Given the description of an element on the screen output the (x, y) to click on. 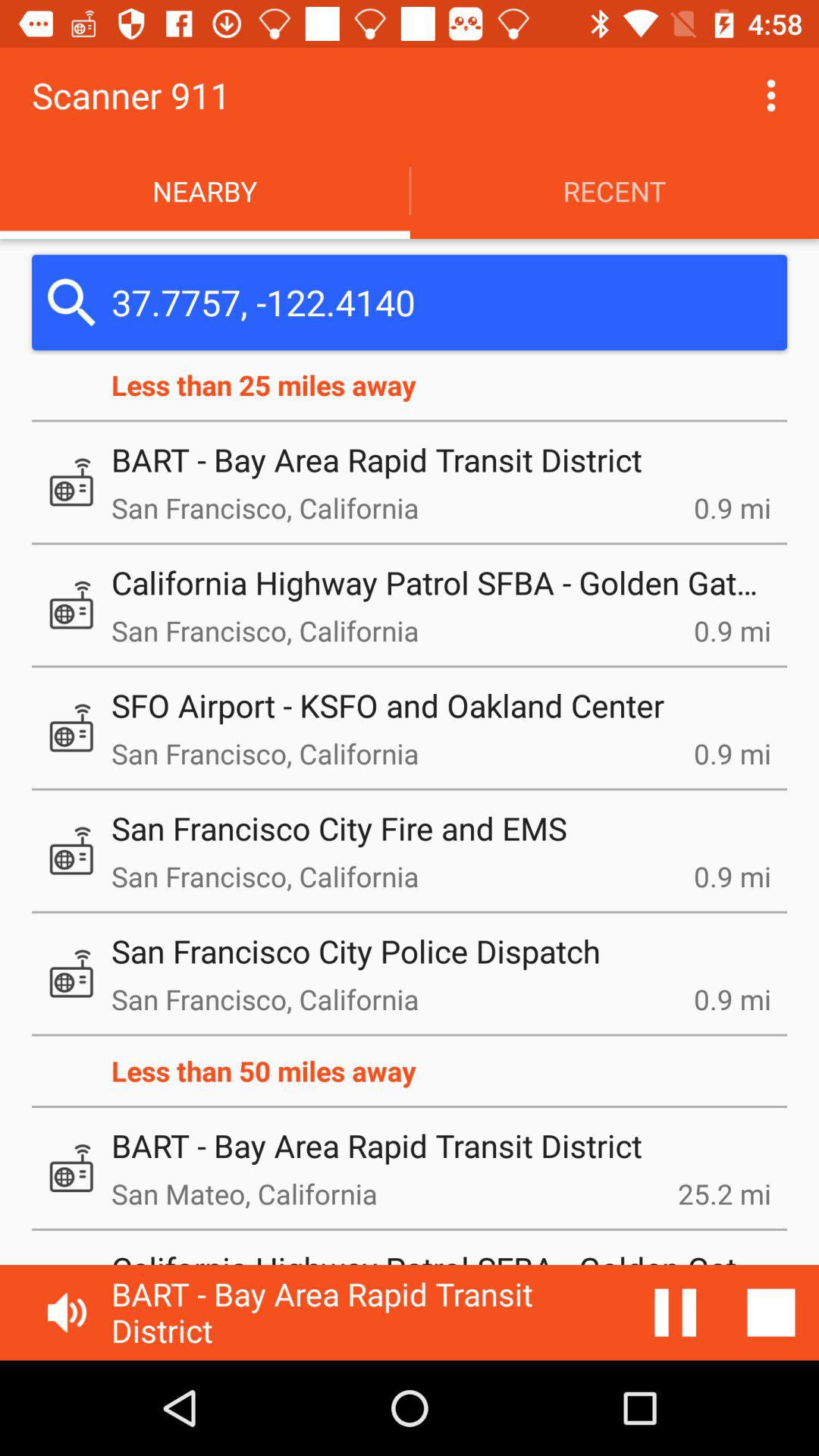
pause audio (675, 1312)
